Given the description of an element on the screen output the (x, y) to click on. 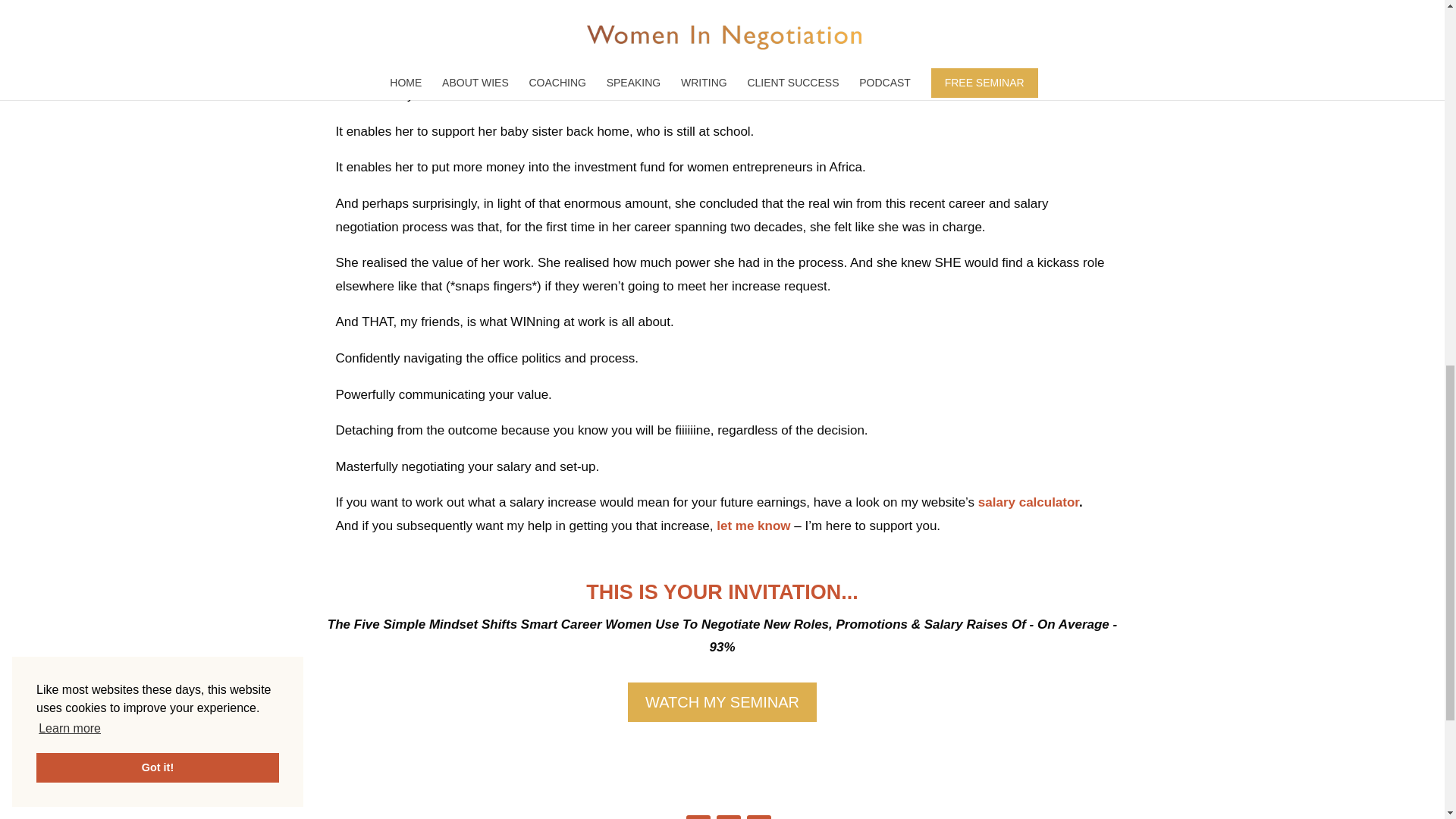
Follow on LinkedIn (758, 816)
WATCH MY SEMINAR (721, 701)
Follow on Facebook (697, 816)
Follow on Instagram (728, 816)
let me know (753, 525)
salary calculator (1028, 502)
